Given the description of an element on the screen output the (x, y) to click on. 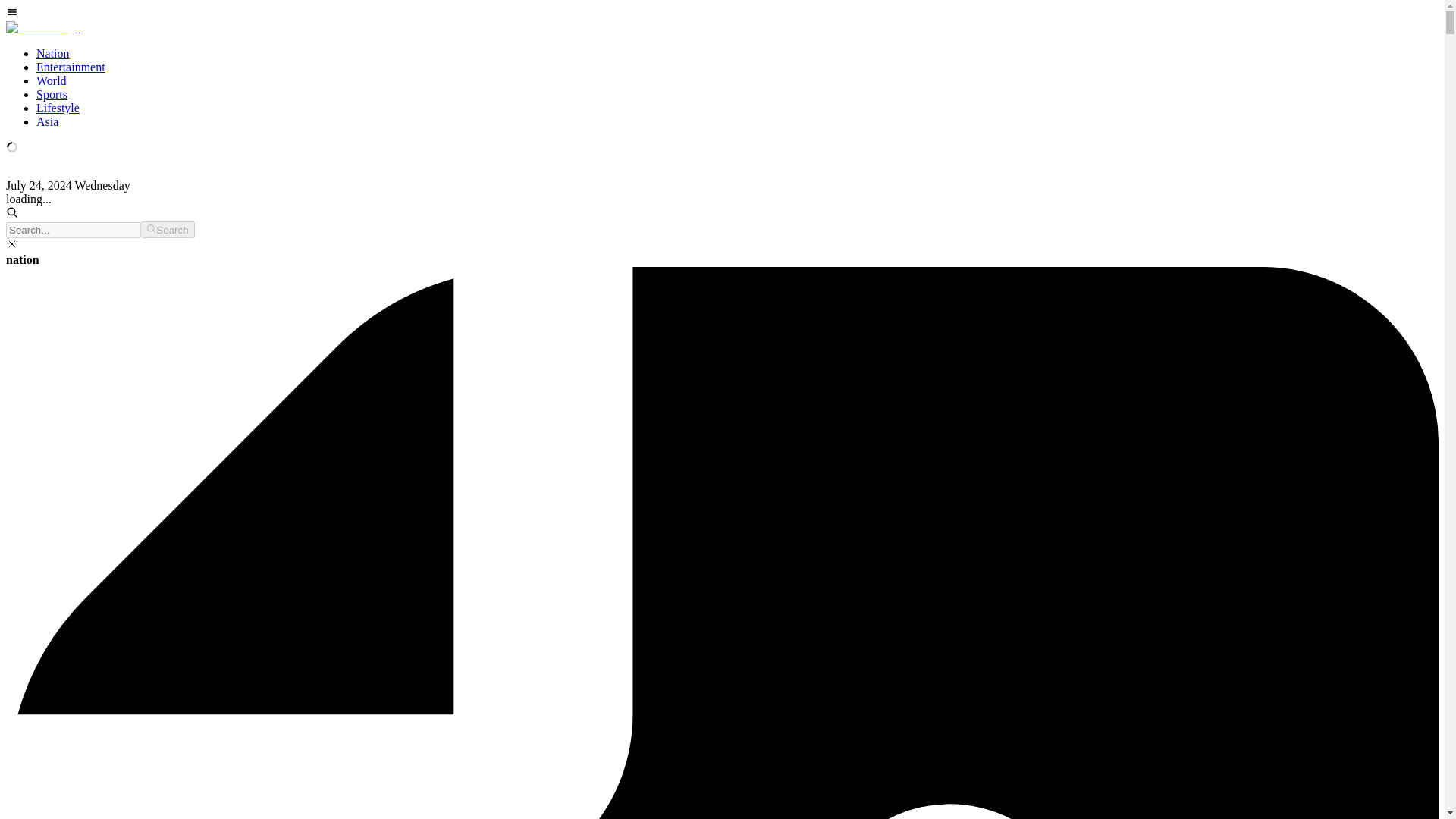
Entertainment (70, 66)
Lifestyle (58, 107)
Sports (51, 93)
World (51, 80)
Asia (47, 121)
Nation (52, 52)
Search (167, 229)
